Given the description of an element on the screen output the (x, y) to click on. 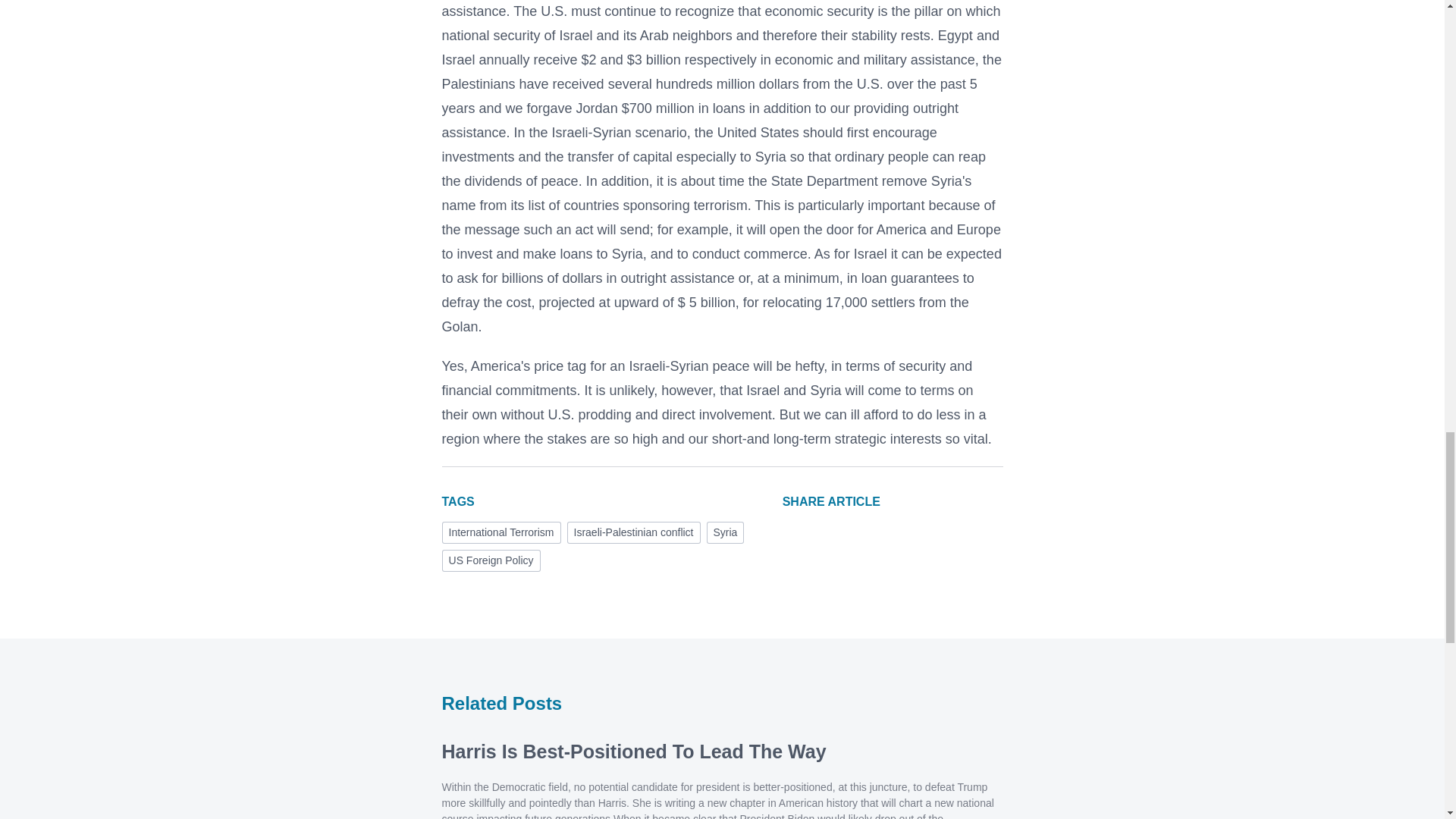
International Terrorism (500, 532)
Syria (725, 532)
Israeli-Palestinian conflict (633, 532)
Harris Is Best-Positioned To Lead The Way (633, 751)
US Foreign Policy (490, 560)
